Given the description of an element on the screen output the (x, y) to click on. 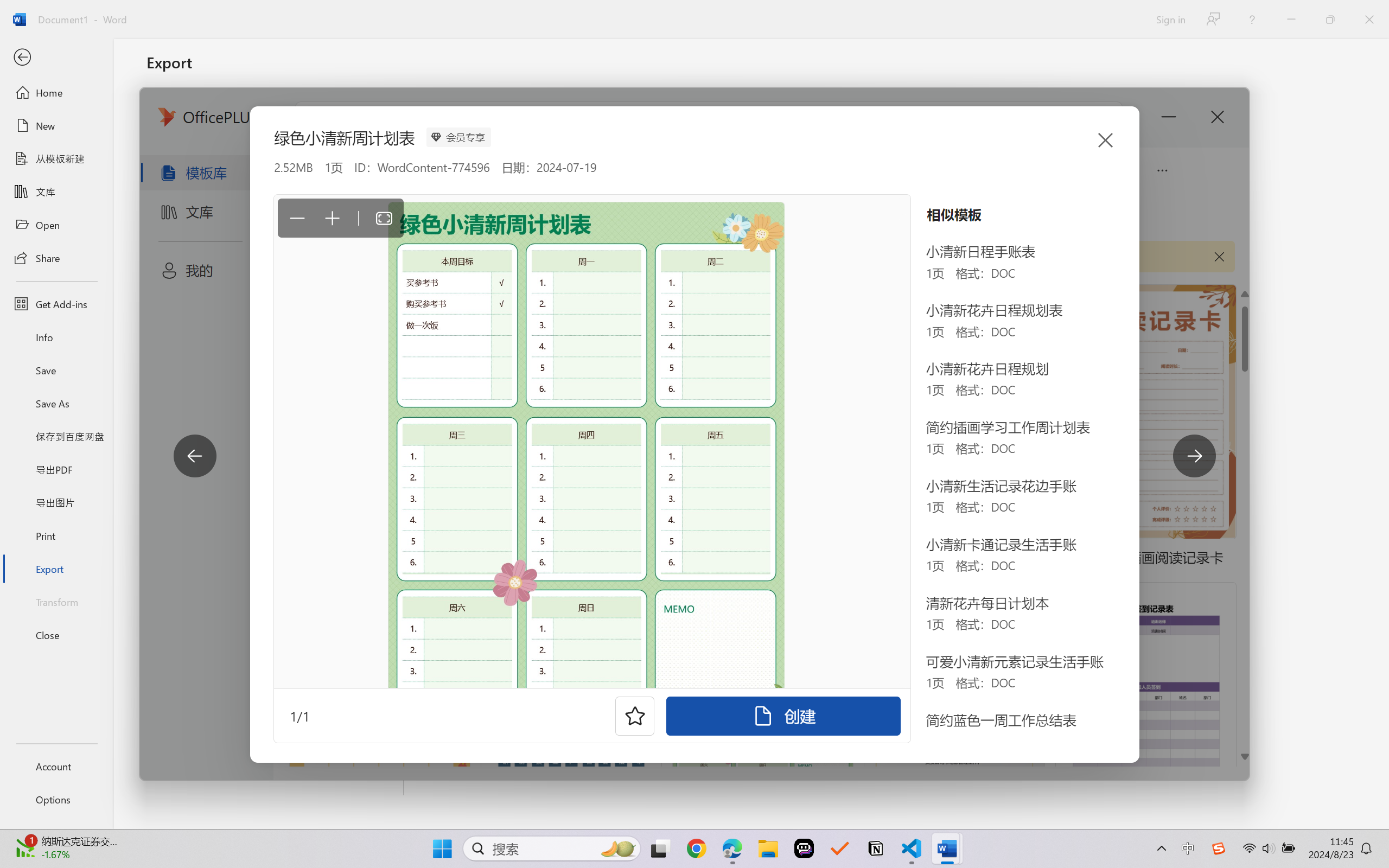
Save As (56, 403)
Export (56, 568)
Back (56, 57)
Account (56, 765)
